Given the description of an element on the screen output the (x, y) to click on. 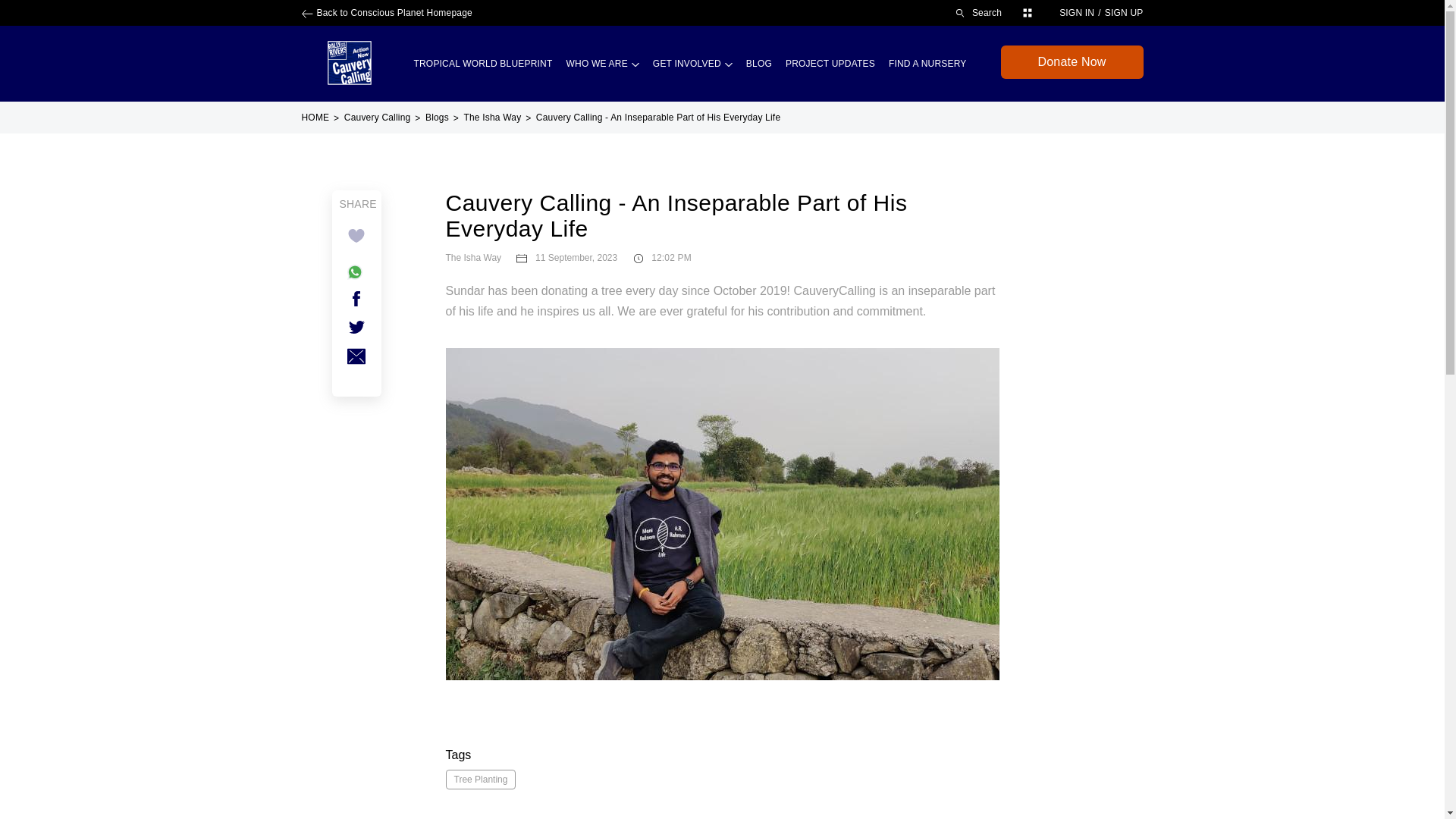
Back to Conscious Planet Homepage (386, 12)
GET INVOLVED (692, 63)
SIGN IN (1076, 12)
Donate Now (1071, 61)
Cauvery Calling (348, 62)
TROPICAL WORLD BLUEPRINT (482, 63)
PROJECT UPDATES (830, 63)
BLOG (758, 63)
FIND A NURSERY (927, 63)
WHO WE ARE (602, 63)
SIGN UP (1123, 12)
